Given the description of an element on the screen output the (x, y) to click on. 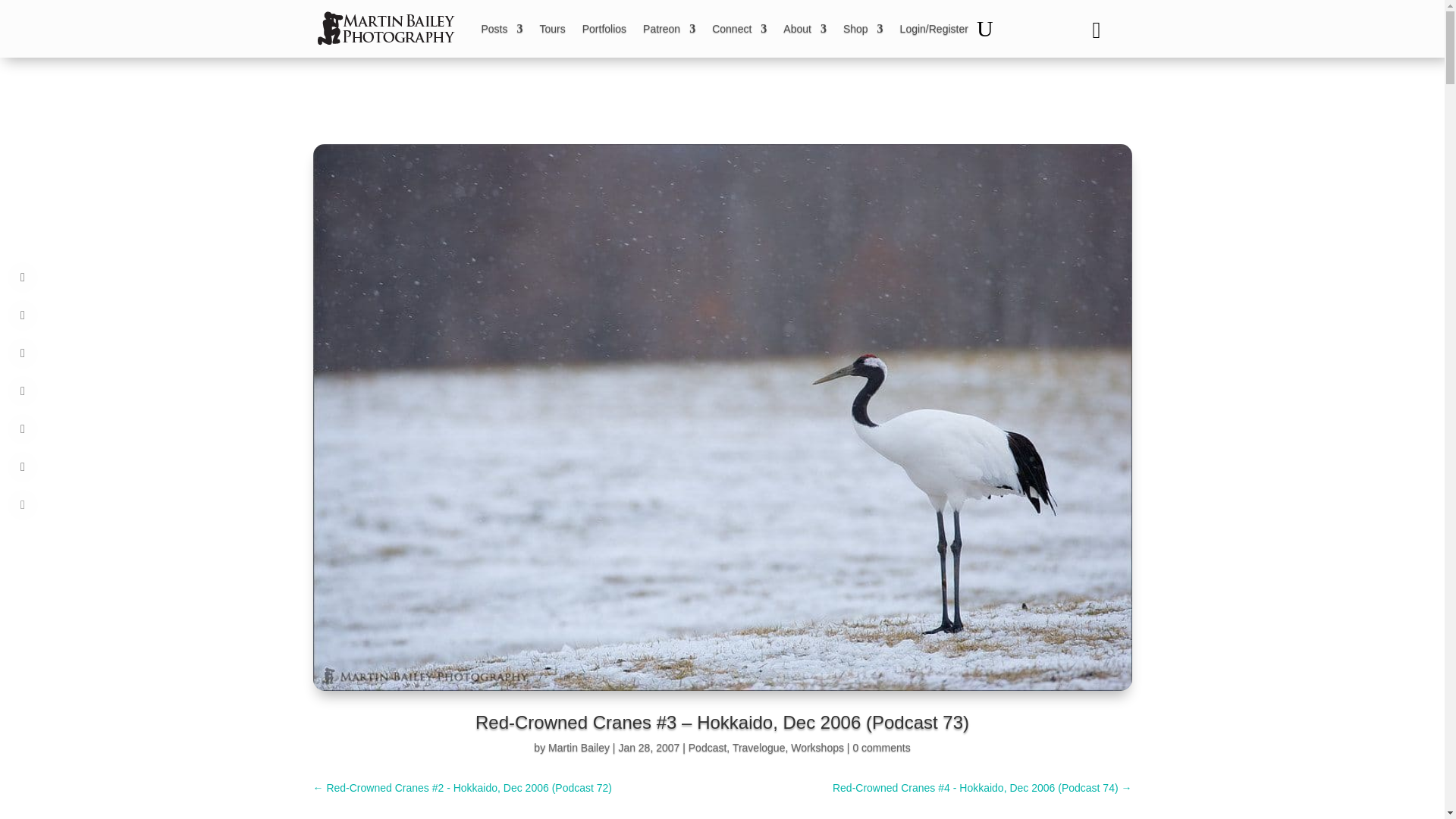
Patreon (669, 28)
Connect with Martin Bailey Photography (739, 28)
Connect (739, 28)
